Given the description of an element on the screen output the (x, y) to click on. 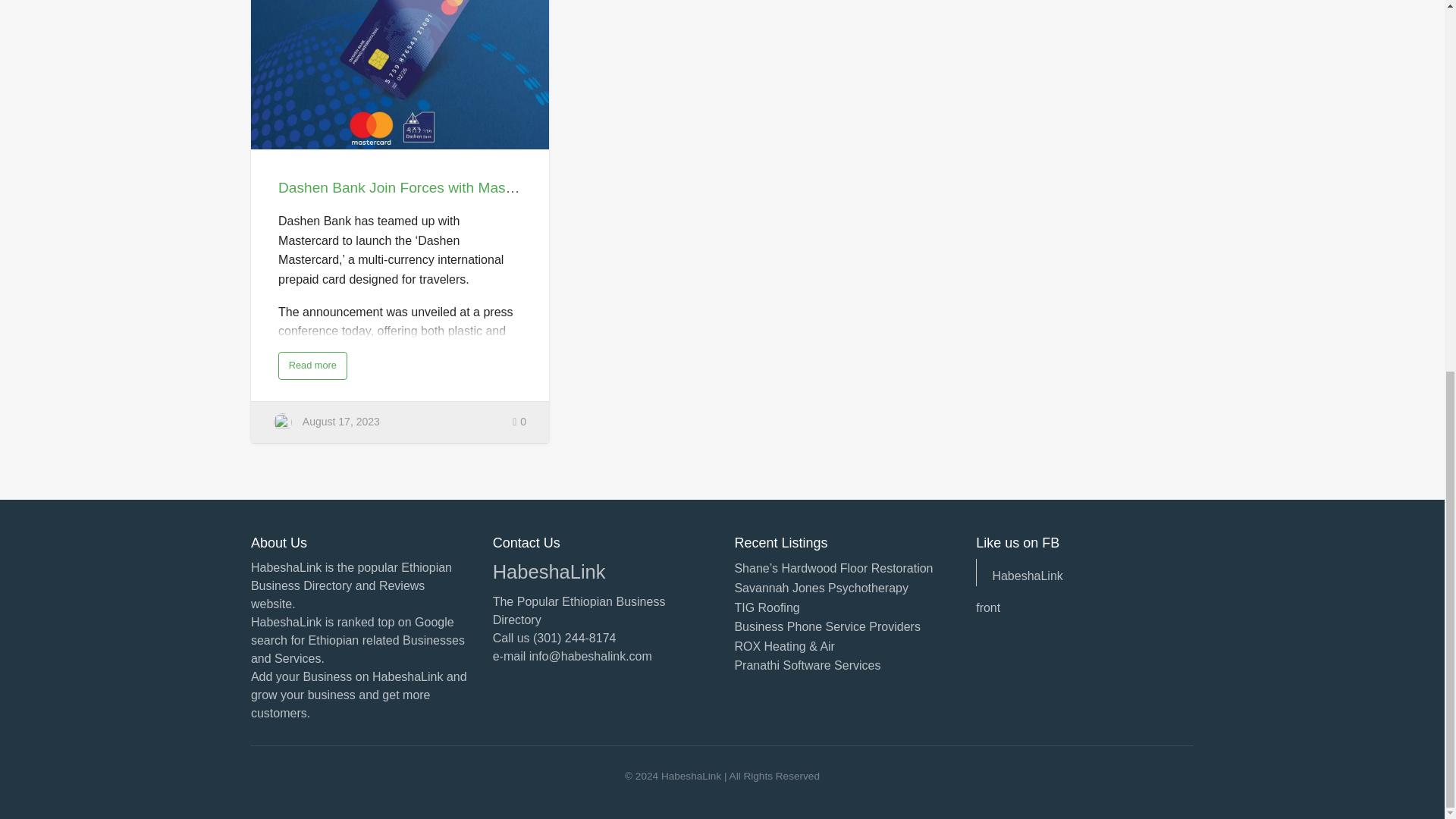
Savannah Jones Psychotherapy (820, 587)
TIG Roofing (766, 607)
Business Phone Service Providers (826, 626)
Pranathi Software Services (806, 665)
